Given the description of an element on the screen output the (x, y) to click on. 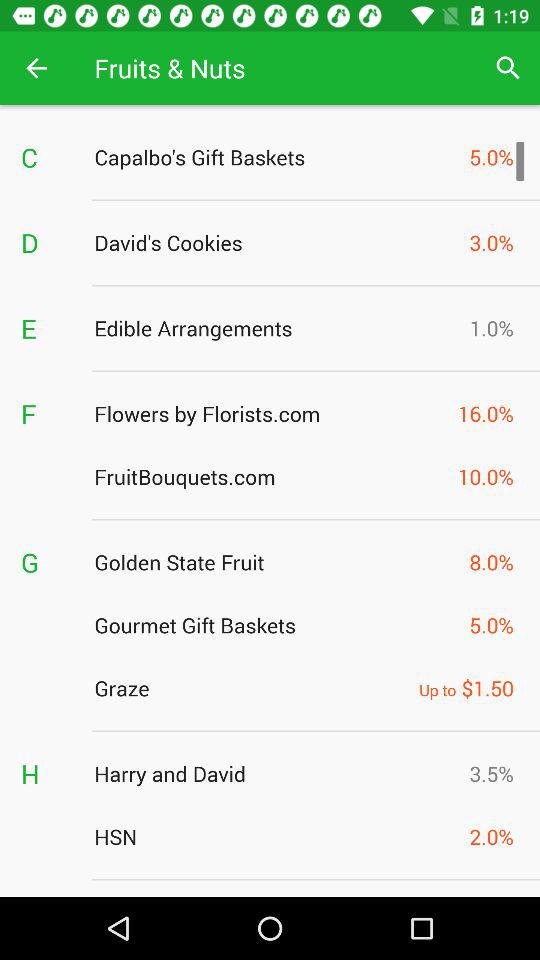
open the icon to the left of fruits & nuts (36, 68)
